Given the description of an element on the screen output the (x, y) to click on. 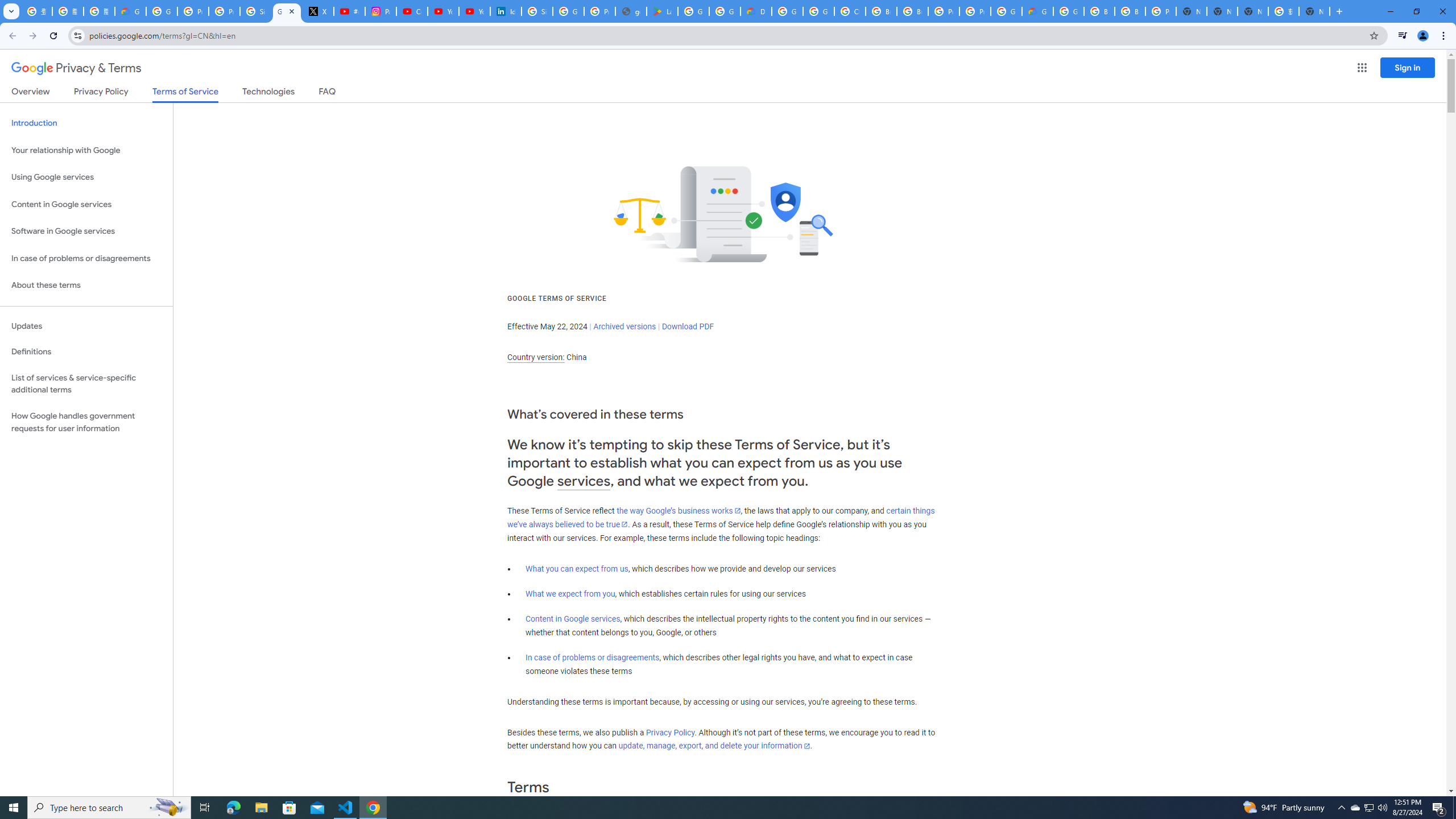
Google Cloud Platform (1005, 11)
Google Cloud Platform (787, 11)
What we expect from you (570, 593)
update, manage, export, and delete your information (714, 746)
Software in Google services (86, 230)
Google Cloud Platform (1068, 11)
